Given the description of an element on the screen output the (x, y) to click on. 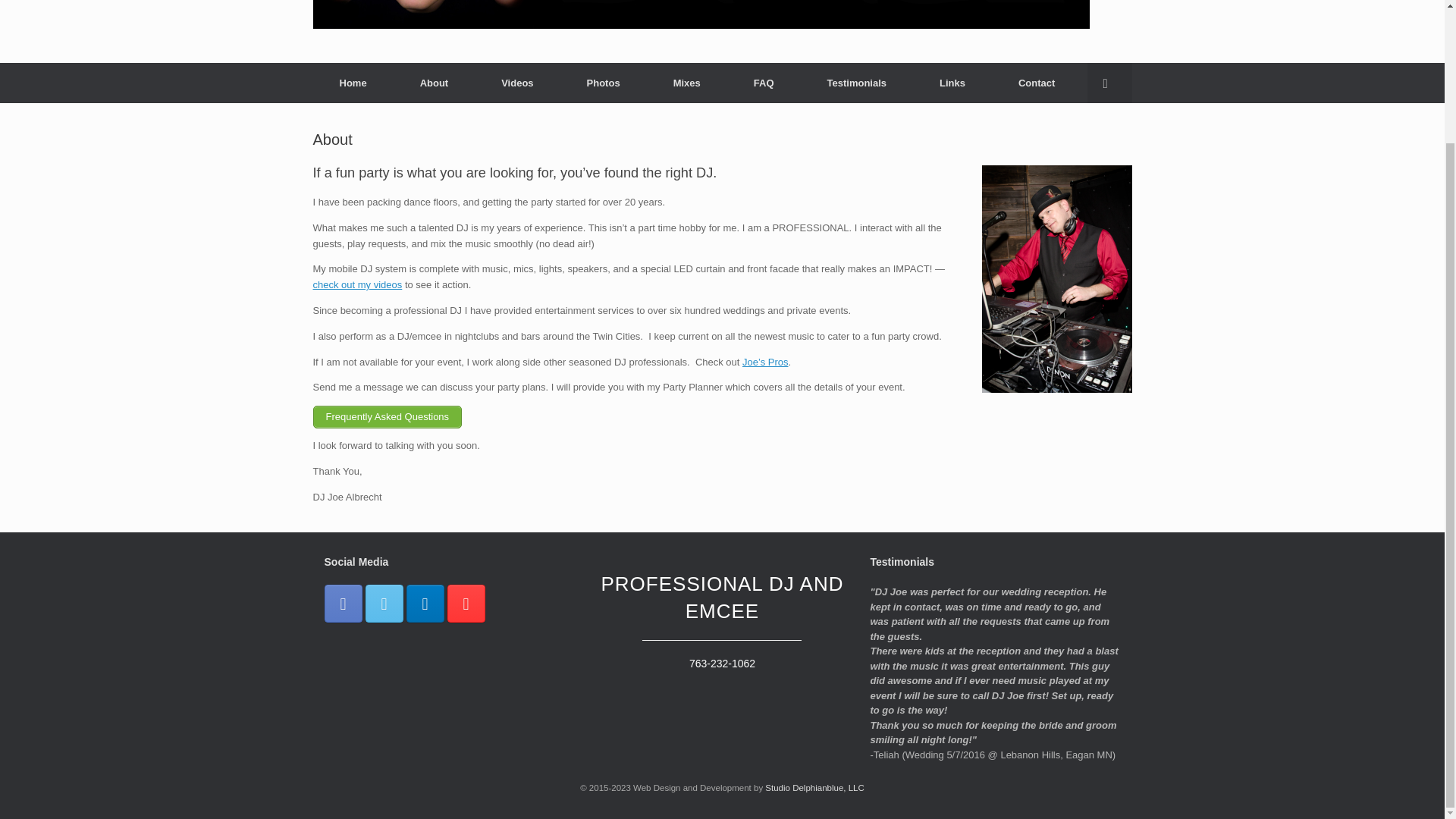
DJ Joe MPLS (701, 14)
Home (353, 83)
DJ Joe MPLS YouTube (465, 603)
Contact (1036, 83)
Frequently Asked Questions (387, 416)
check out my videos (357, 284)
Photos (603, 83)
Videos (516, 83)
DJ Joe MPLS Facebook (343, 603)
About (434, 83)
Studio Delphianblue, LLC (814, 787)
DJ Joe MPLS LinkedIn (425, 603)
Mixes (686, 83)
Videos (357, 284)
Testimonials (857, 83)
